Given the description of an element on the screen output the (x, y) to click on. 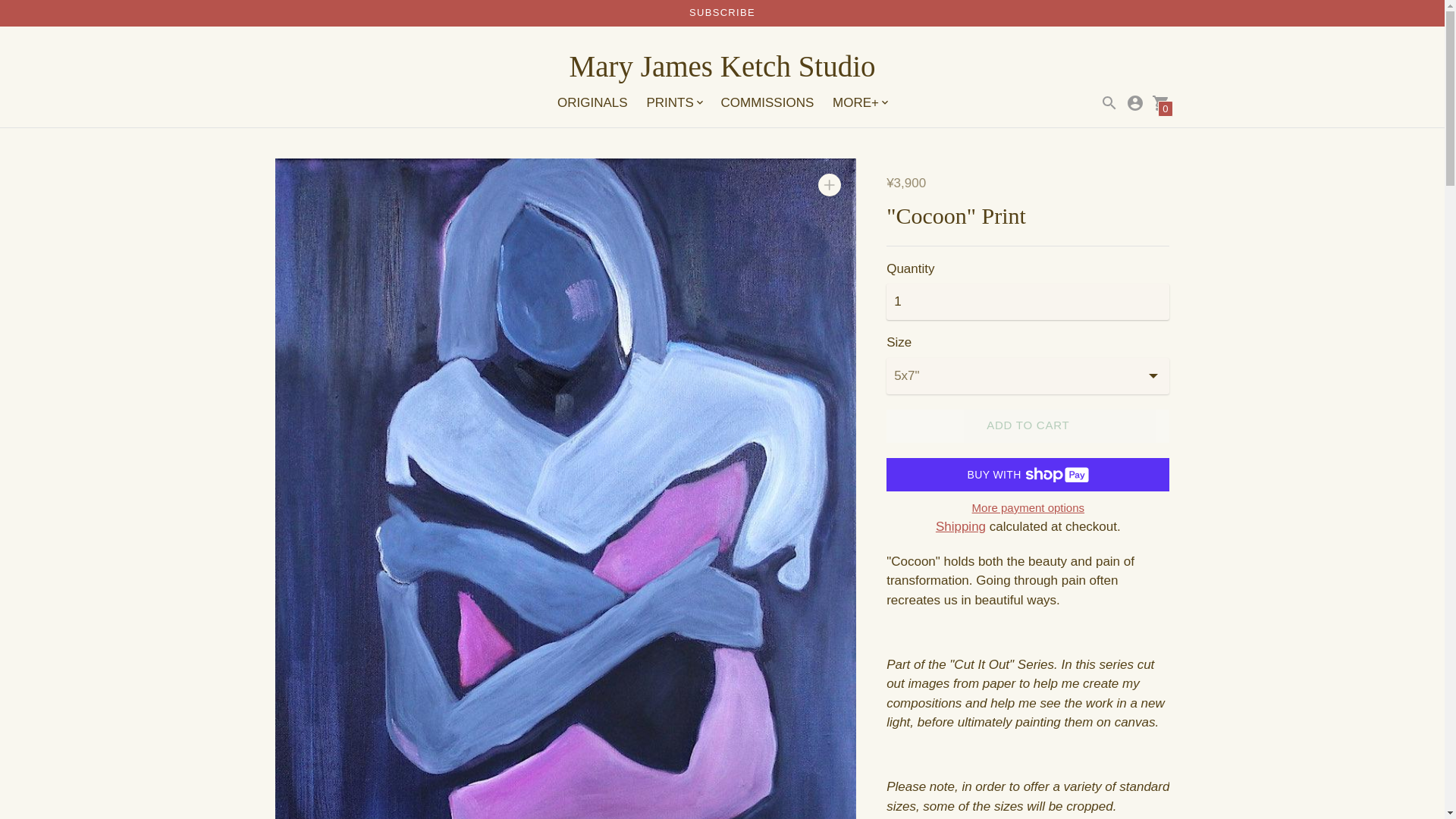
0 (1160, 103)
COMMISSIONS (766, 102)
ORIGINALS (592, 102)
PRINTS (673, 103)
Mary James Ketch Studio (722, 66)
1 (1027, 301)
SUBSCRIBE (721, 12)
